Given the description of an element on the screen output the (x, y) to click on. 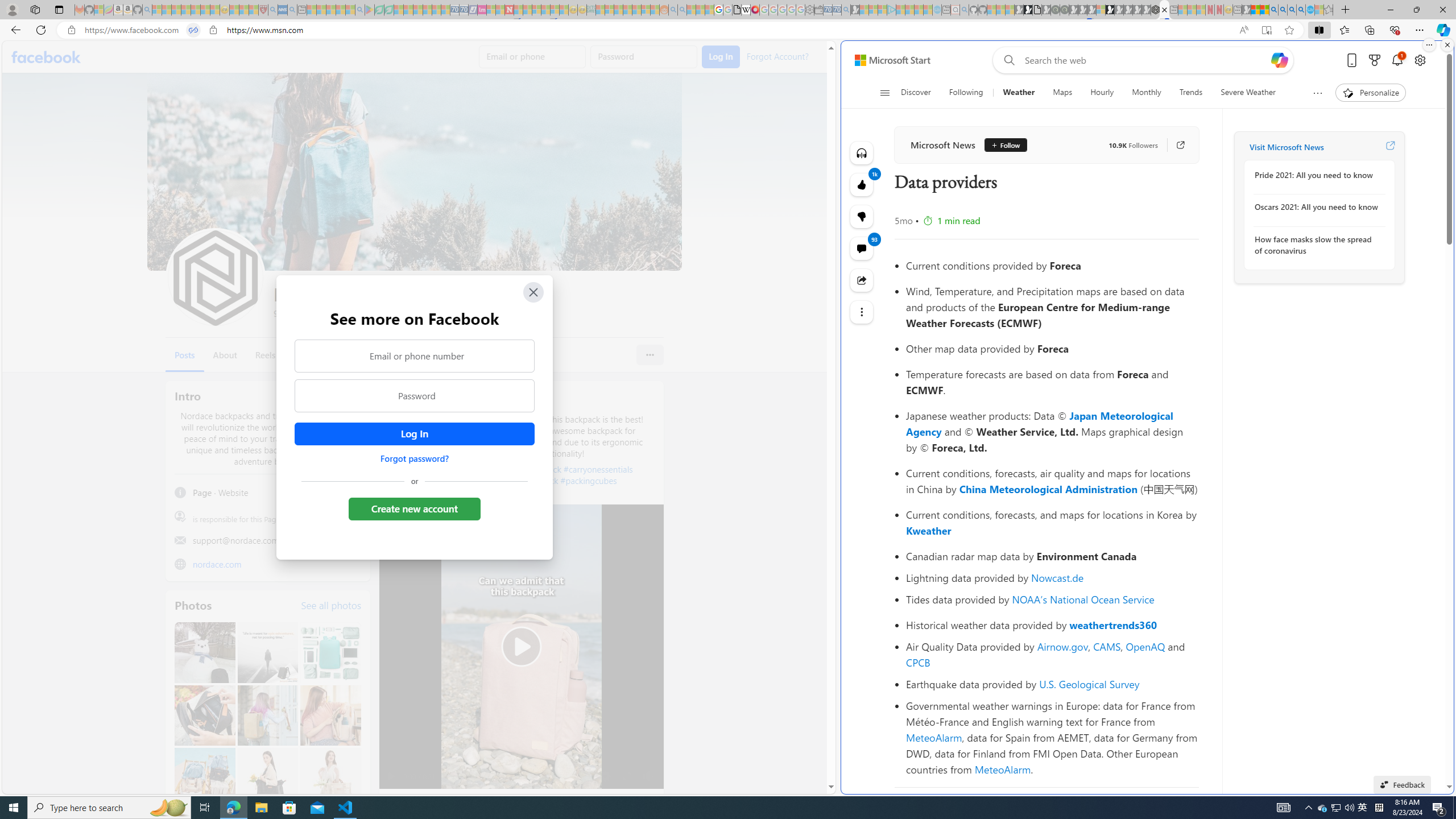
Discover (920, 92)
View comments 93 Comment (861, 248)
Collections (1369, 29)
Listen to this article (861, 152)
weathertrends360 (1112, 625)
Close split screen. (1447, 45)
How face masks slow the spread of coronavirus (1316, 244)
Enter your search term (1146, 59)
Kinda Frugal - MSN - Sleeping (636, 9)
Follow (1001, 144)
